Given the description of an element on the screen output the (x, y) to click on. 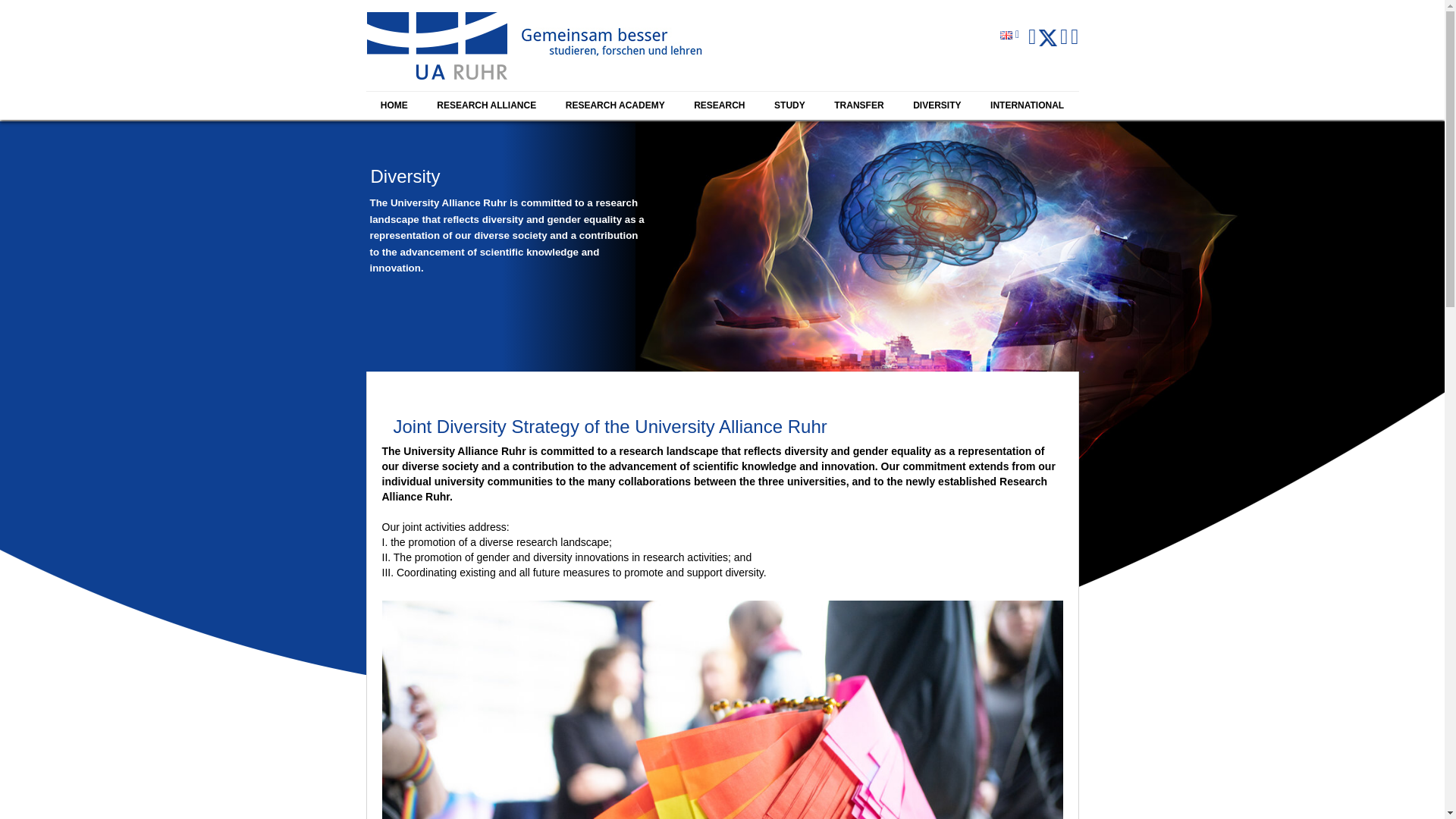
DIVERSITY (936, 105)
RESEARCH ALLIANCE (486, 105)
TRANSFER (858, 105)
STUDY (789, 105)
HOME (393, 105)
RESEARCH ACADEMY (614, 105)
UA Ruhr - Twitter (1049, 39)
RESEARCH (719, 105)
INTERNATIONAL (1026, 105)
